Given the description of an element on the screen output the (x, y) to click on. 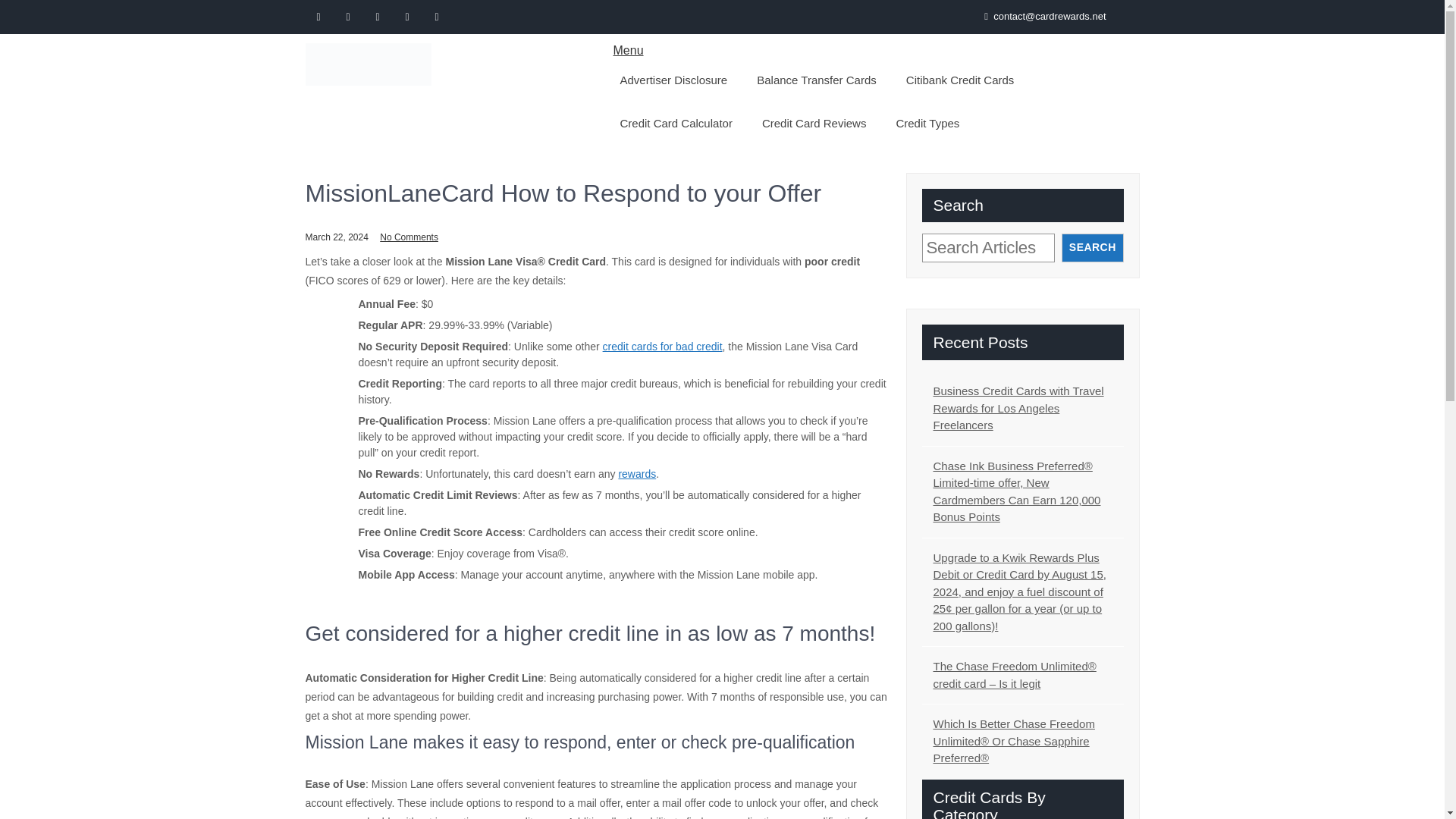
No Comments (409, 236)
Balance Transfer Cards (816, 79)
Advertiser Disclosure (673, 79)
Credit Types (927, 122)
Credit Card Reviews (814, 122)
linkedin (407, 17)
linkedin (436, 17)
Facebook (317, 17)
SEARCH (1091, 247)
credit cards for bad credit (662, 346)
Menu (627, 50)
rewards (636, 473)
Citibank Credit Cards (960, 79)
twitter (347, 17)
